Given the description of an element on the screen output the (x, y) to click on. 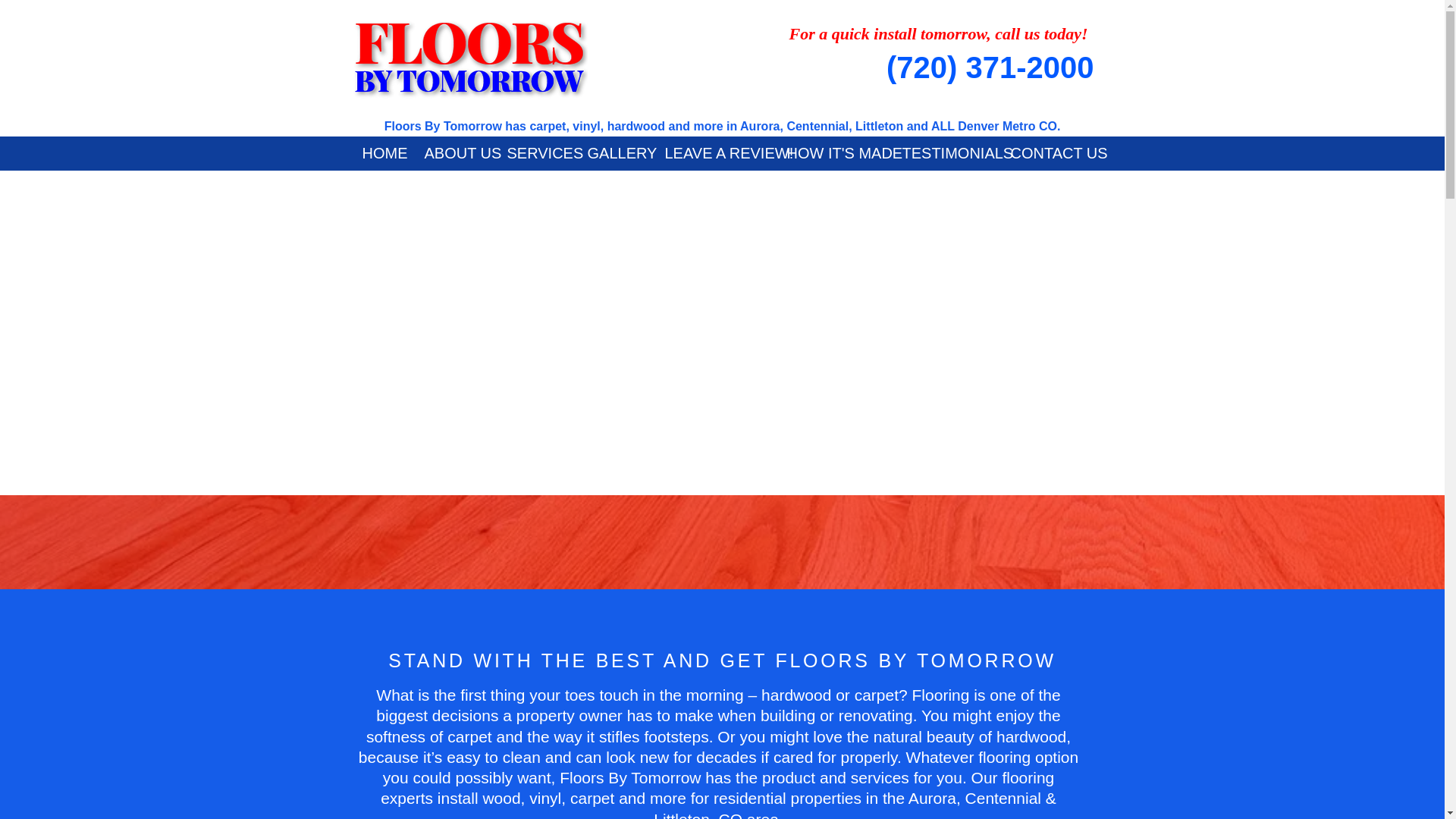
HOW IT'S MADE (831, 153)
GALLERY (614, 153)
carpet (469, 736)
hardwood (1030, 736)
CONTACT US (1046, 153)
carpet (592, 797)
wood (500, 797)
LEAVE A REVIEW! (714, 153)
vinyl (544, 797)
HOME (381, 153)
